Given the description of an element on the screen output the (x, y) to click on. 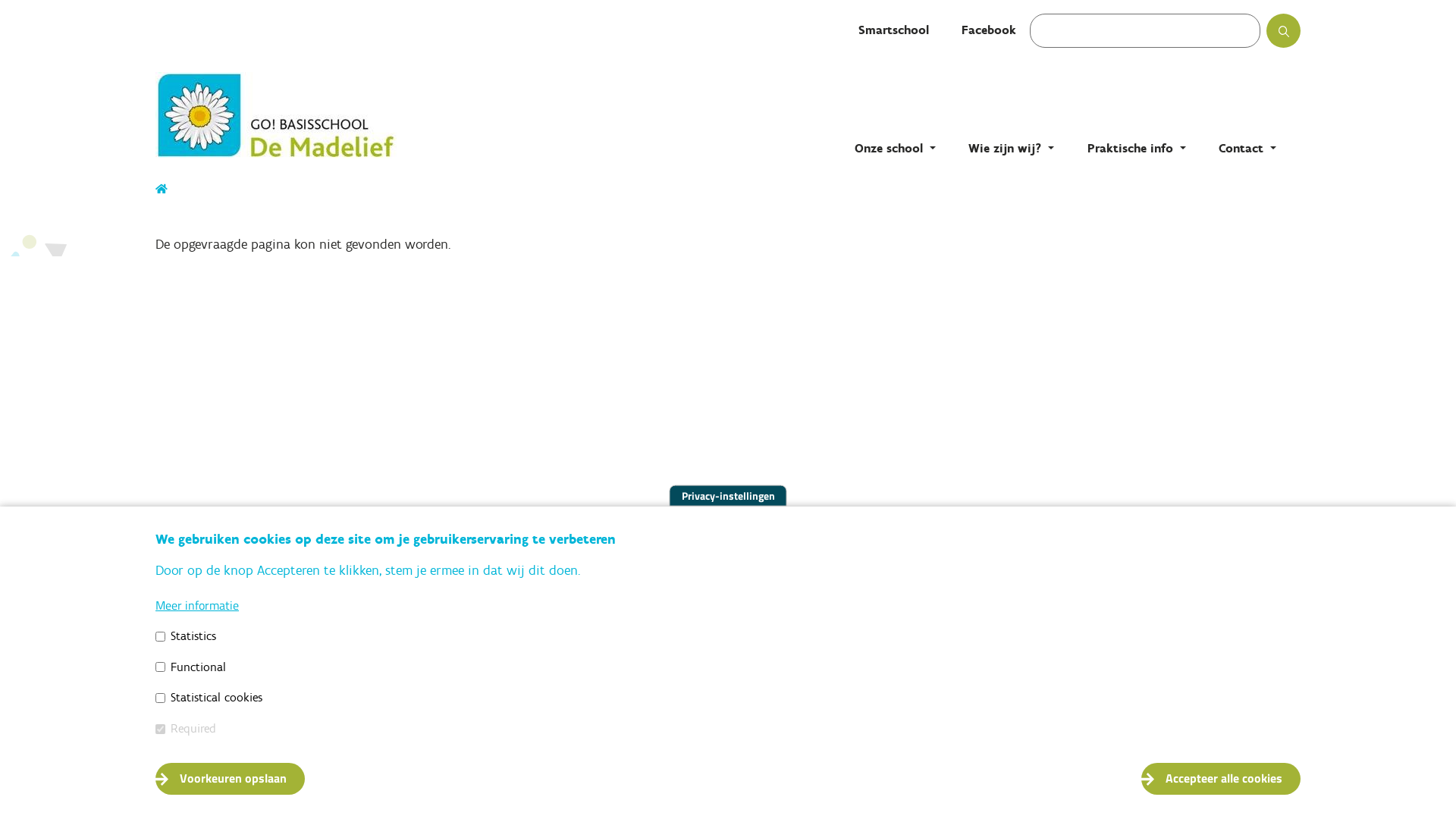
Meer informatie Element type: text (196, 605)
Naar de inhoud Element type: text (0, 0)
secretariaat@de-madelief.be Element type: text (271, 718)
09 348 11 03 Element type: text (225, 694)
Praktische info Element type: text (1136, 148)
Onze school Element type: text (894, 148)
Wie zijn wij? Element type: text (1011, 148)
Ga naar de homepage Element type: hover (306, 115)
Voorkeuren opslaan Element type: text (229, 778)
Contact Element type: text (1247, 148)
Smartschool Element type: text (893, 29)
Facebook Element type: text (988, 29)
Accepteer alle cookies Element type: text (1220, 778)
Home Element type: text (162, 189)
Paddle CMS Platform Element type: hover (1262, 794)
Toestemming intrekken Element type: text (1319, 770)
Privacy-instellingen Element type: text (727, 495)
Zoeken Element type: text (1297, 35)
